Given the description of an element on the screen output the (x, y) to click on. 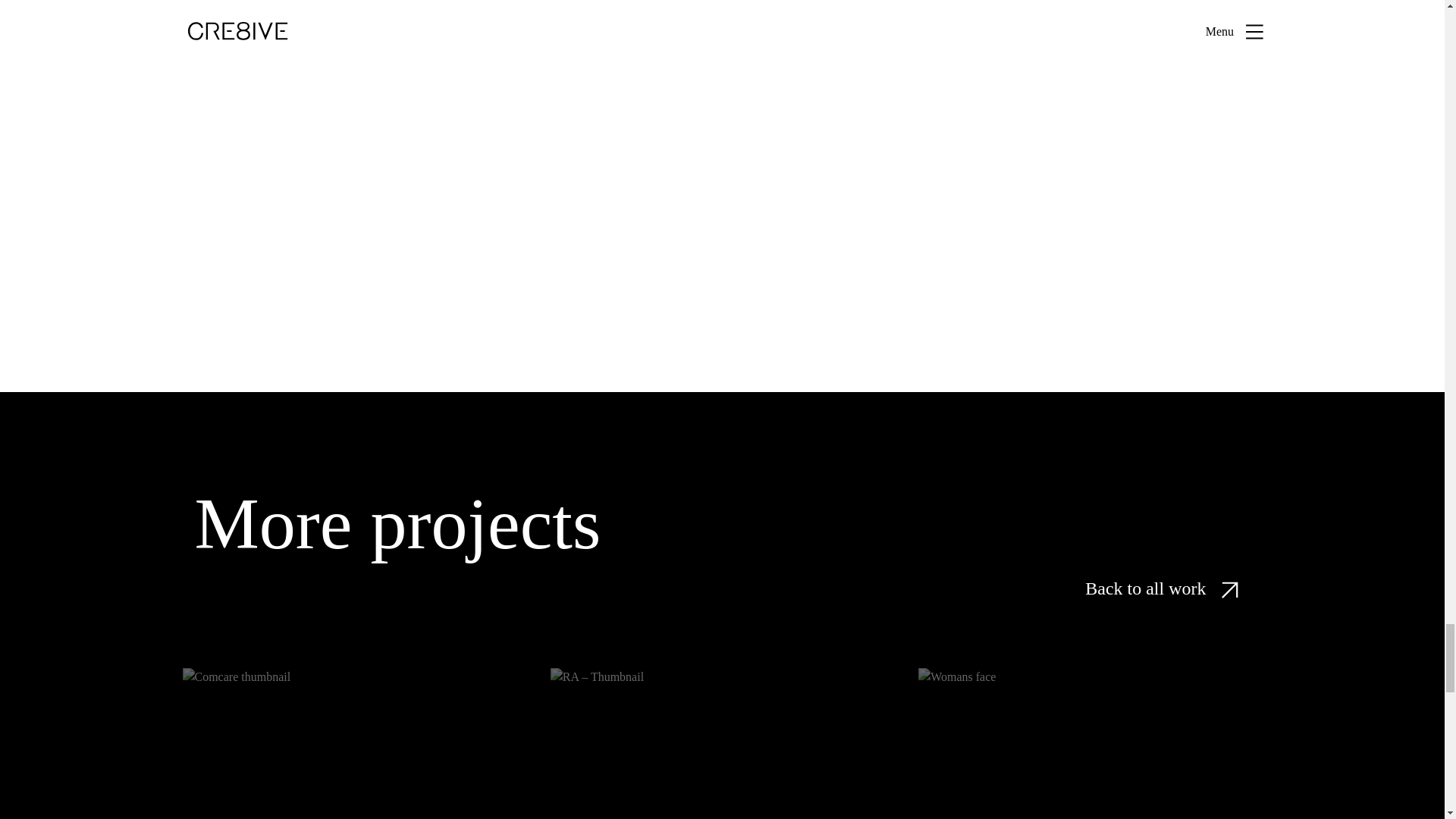
Back to all work (721, 743)
